Given the description of an element on the screen output the (x, y) to click on. 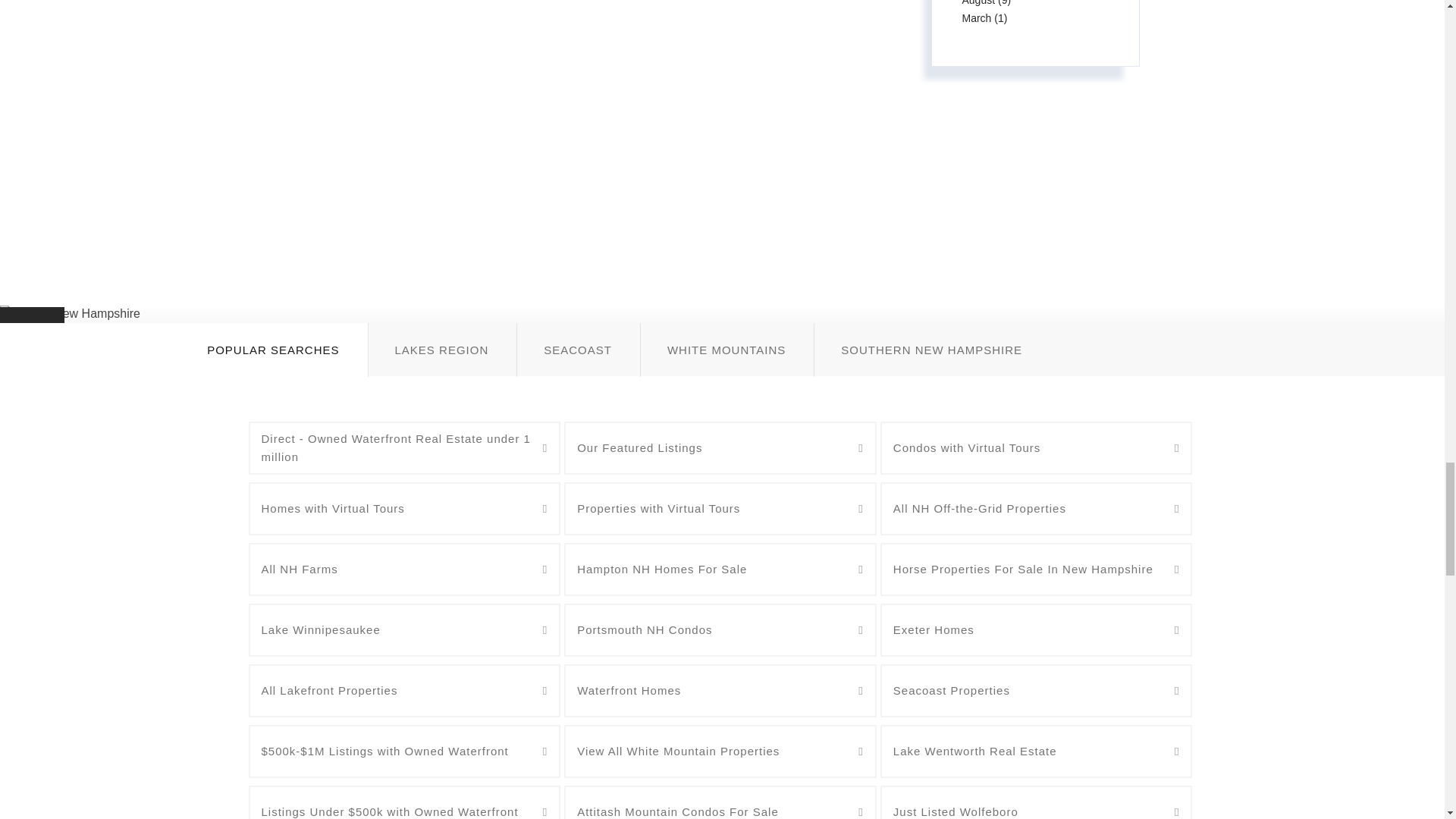
Lake Winnipesaukee (404, 629)
Direct - Owned Waterfront Real Estate under 1 million (404, 448)
Off-the-Grid Homes for Sale in New Hampshire (1036, 508)
All Lakefront Properties (404, 690)
NH Condos with Virtual Tours (1036, 448)
Exeter Homes For Sale (1036, 629)
NH Properties with Virtual Tours (720, 508)
Hampton NH Homes For Sale (720, 569)
Horse Properties For Sale In New Hampshire (1036, 569)
New Hampshire Farms for Sale (404, 569)
